Given the description of an element on the screen output the (x, y) to click on. 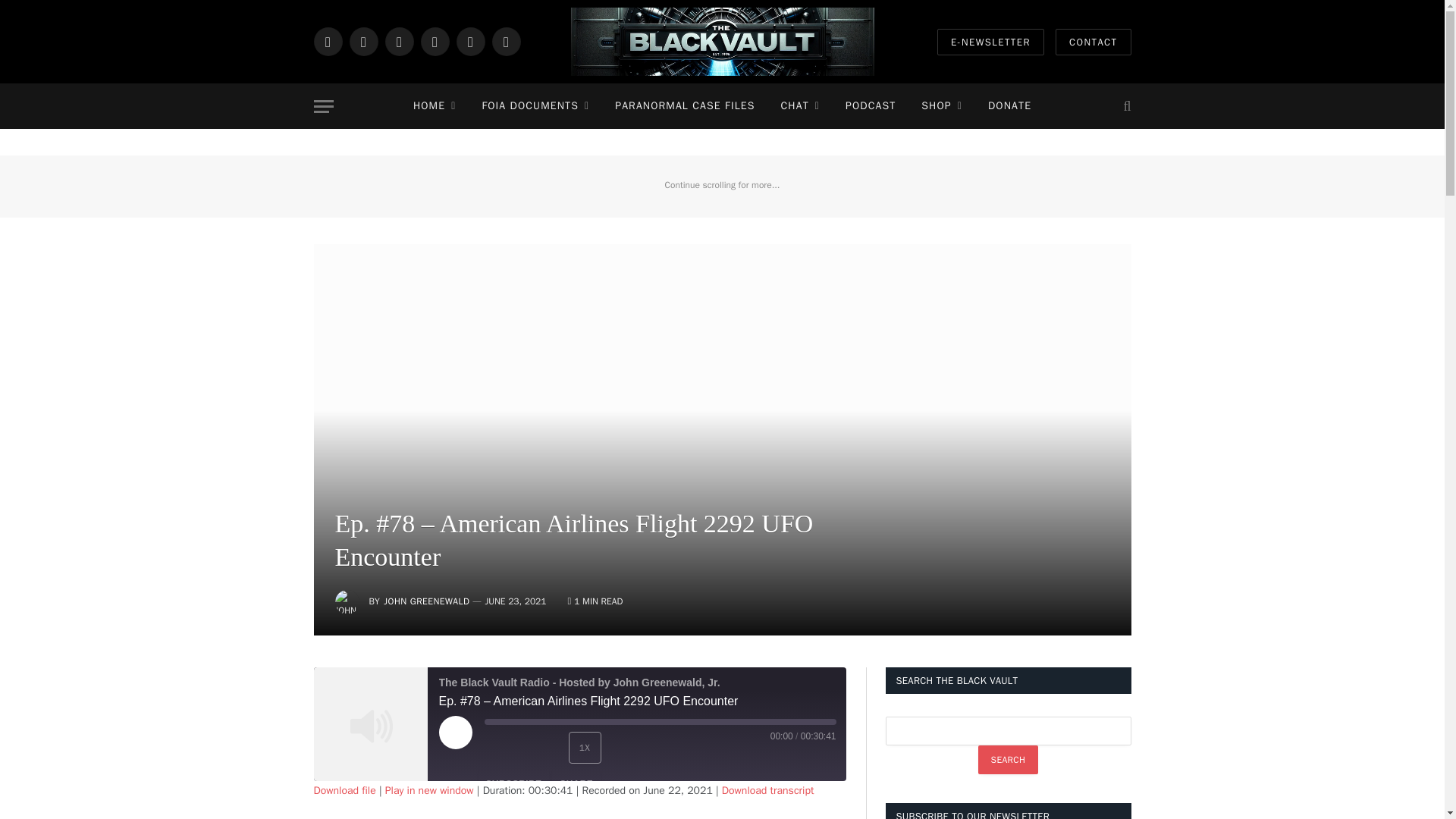
Play (471, 748)
The Black Vault Radio - Hosted by John Greenewald, Jr. (371, 724)
Search (1008, 759)
Seek (659, 721)
Donate (1009, 105)
Posts by John Greenewald (426, 601)
The Black Vault (721, 41)
